Given the description of an element on the screen output the (x, y) to click on. 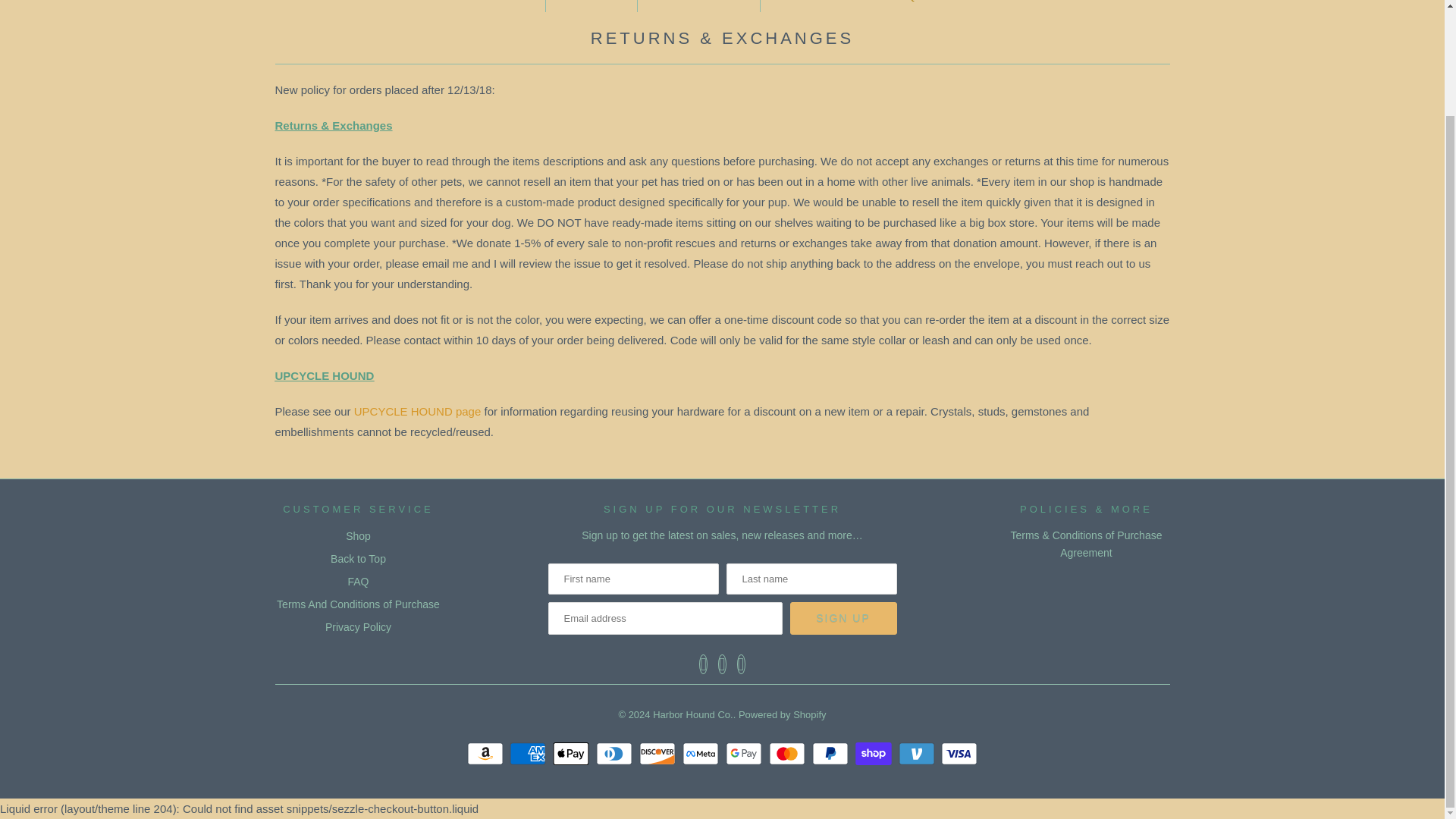
Shop Pay (875, 753)
Amazon (486, 753)
Mastercard (788, 753)
Sign Up (843, 617)
Terms And Conditions of Purchase (1085, 544)
Meta Pay (702, 753)
Visa (958, 753)
Diners Club (615, 753)
Google Pay (745, 753)
Upcycle hound program - harbor hound co. (415, 410)
PayPal (831, 753)
Apple Pay (572, 753)
Discover (659, 753)
Venmo (917, 753)
American Express (529, 753)
